Given the description of an element on the screen output the (x, y) to click on. 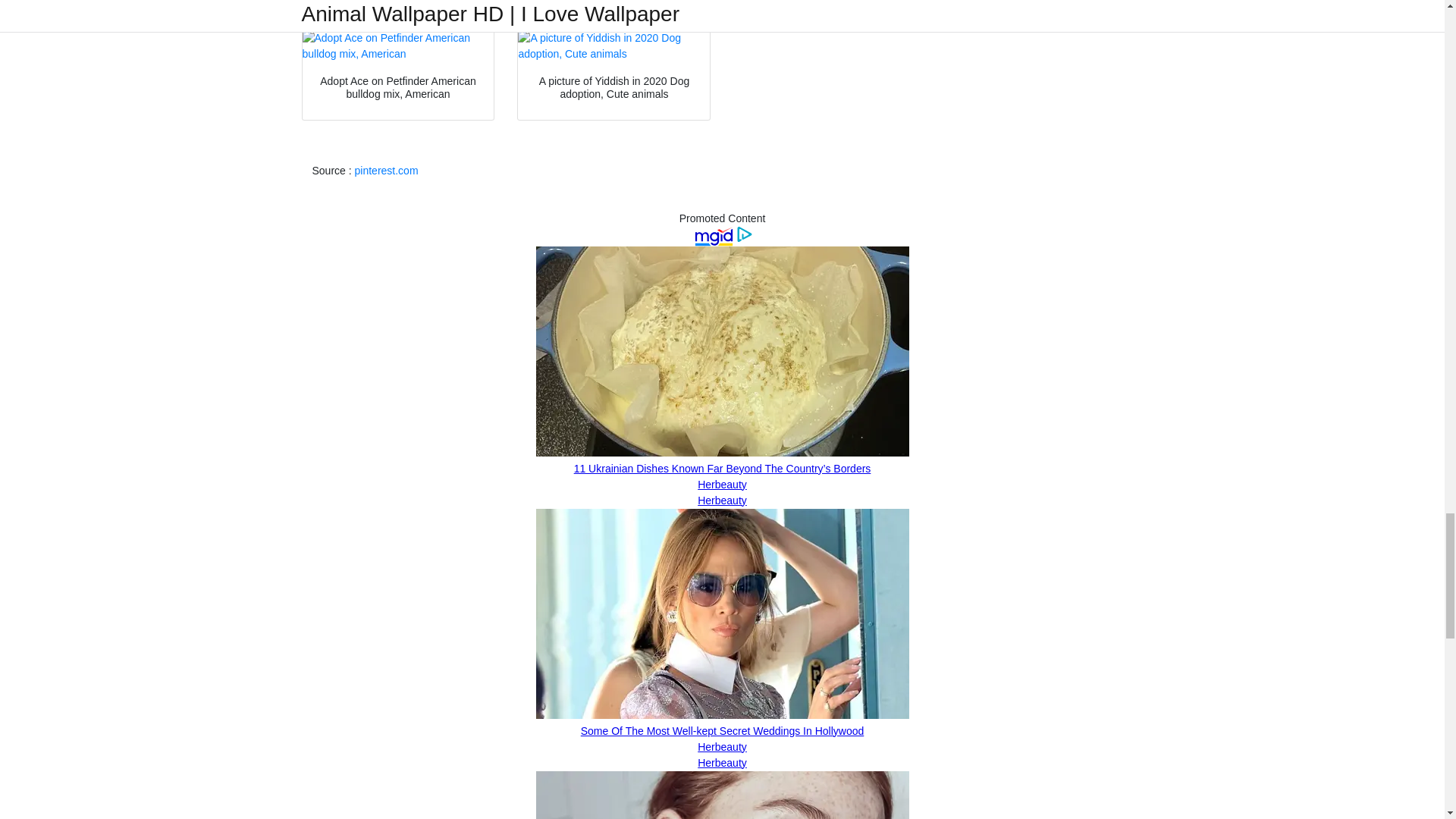
pinterest.com (387, 170)
